Given the description of an element on the screen output the (x, y) to click on. 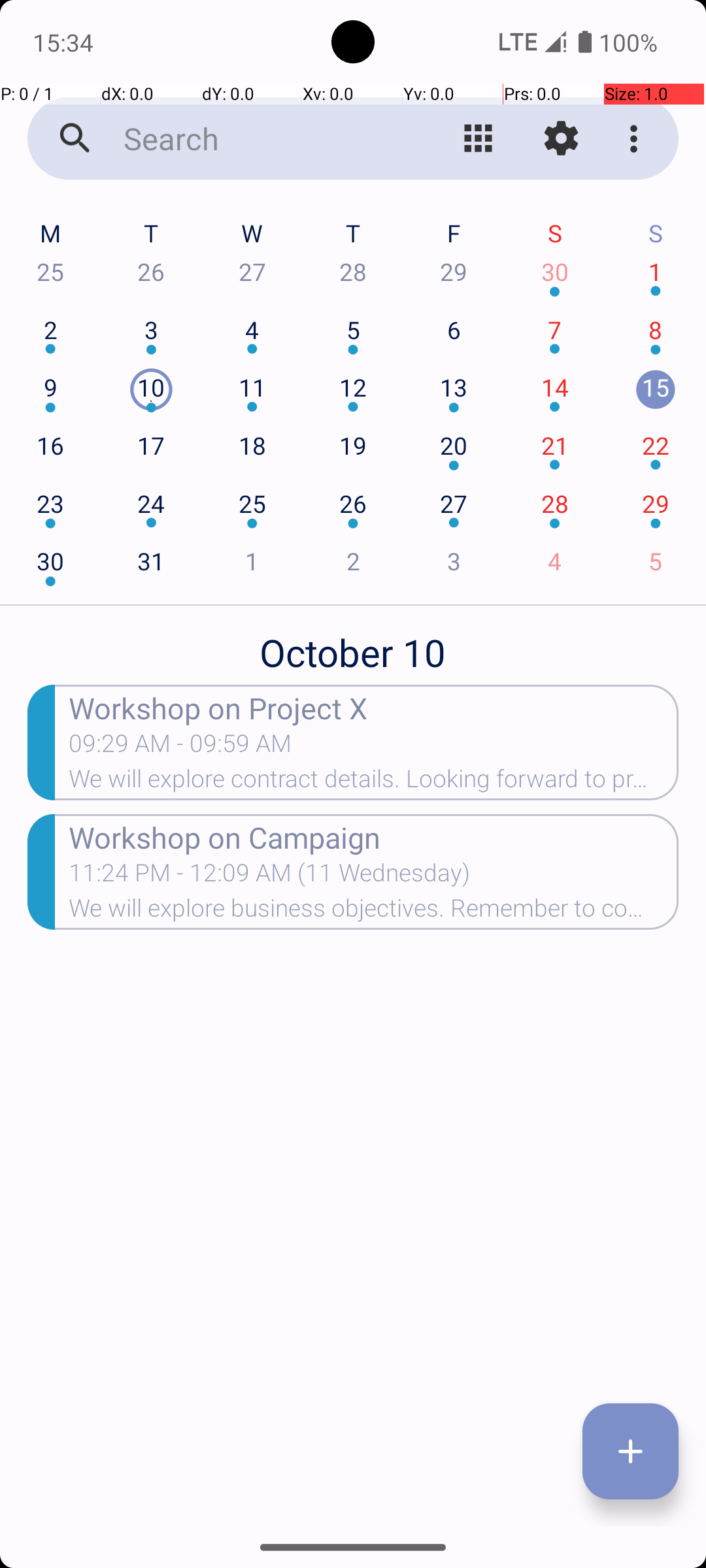
October 10 Element type: android.widget.TextView (352, 644)
09:29 AM - 09:59 AM Element type: android.widget.TextView (179, 747)
We will explore contract details. Looking forward to productive discussions. Element type: android.widget.TextView (373, 782)
11:24 PM - 12:09 AM (11 Wednesday) Element type: android.widget.TextView (269, 876)
We will explore business objectives. Remember to confirm attendance. Element type: android.widget.TextView (373, 911)
